Given the description of an element on the screen output the (x, y) to click on. 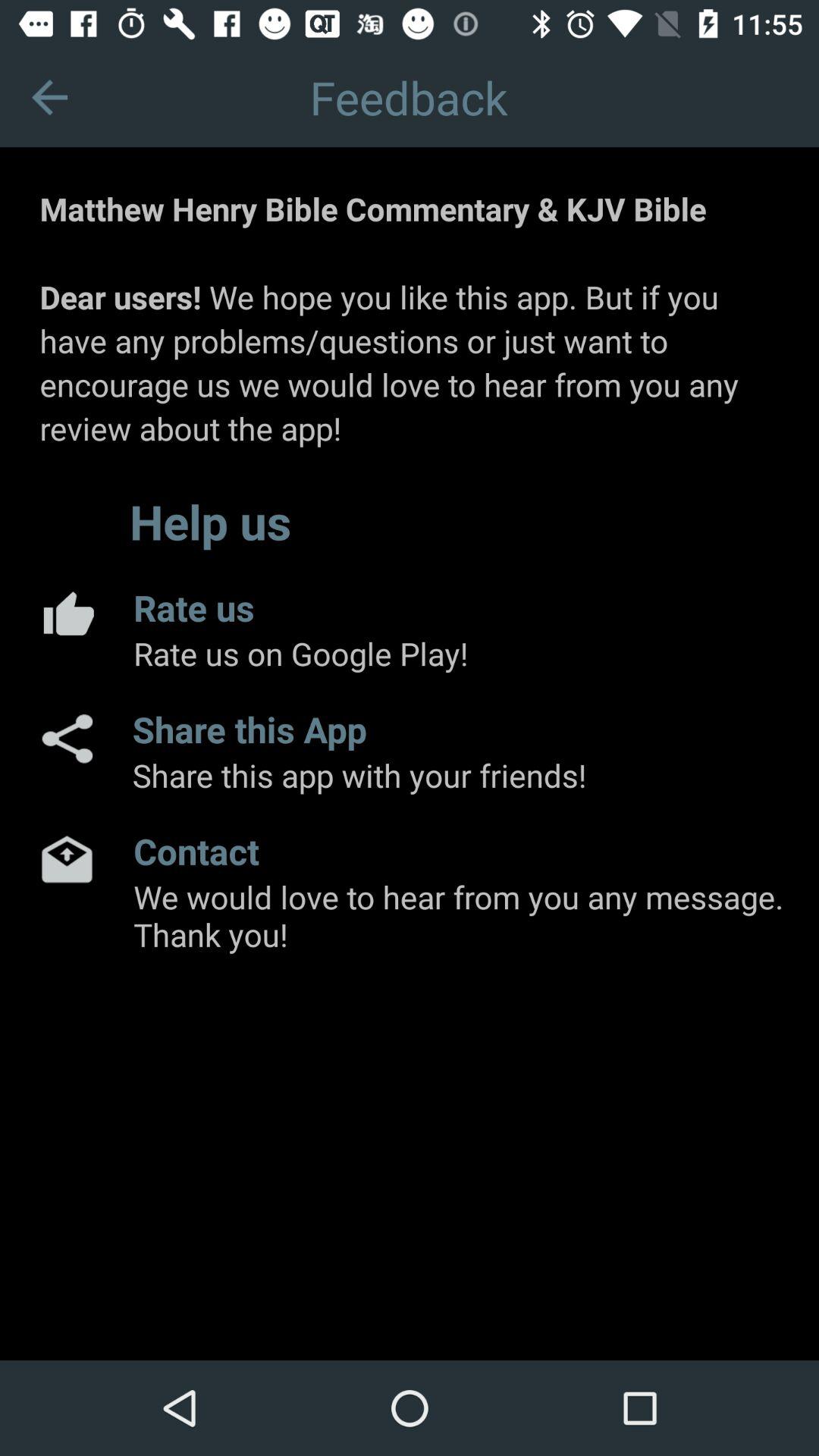
select the app next to share this app app (65, 738)
